Given the description of an element on the screen output the (x, y) to click on. 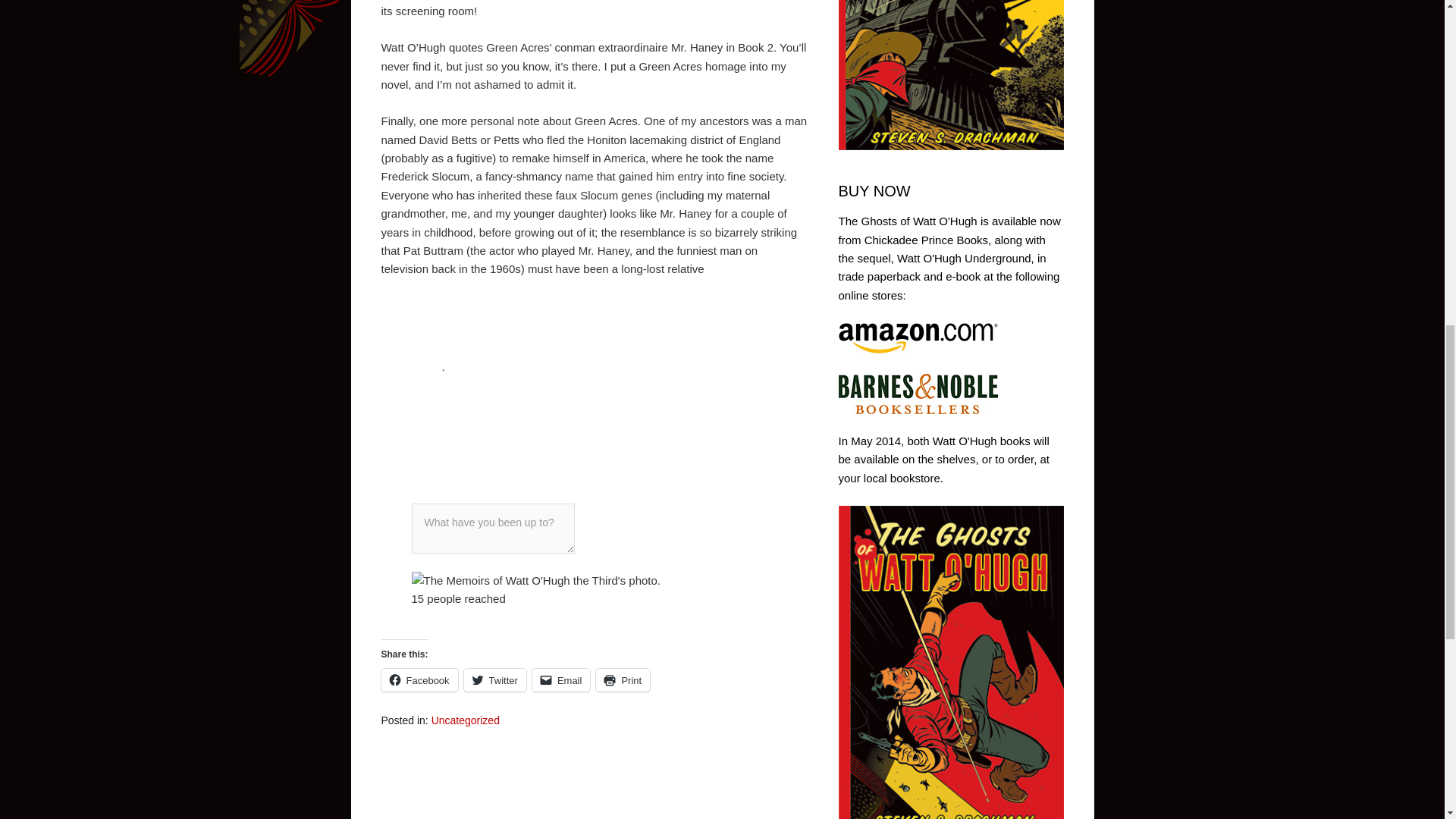
Click to print (622, 680)
Uncategorized (464, 720)
Twitter (494, 680)
Facebook (418, 680)
Print (622, 680)
Click to share on Facebook (418, 680)
What have you been up to? (491, 528)
Click to share on Twitter (494, 680)
Email (561, 680)
Click to email a link to a friend (561, 680)
